Given the description of an element on the screen output the (x, y) to click on. 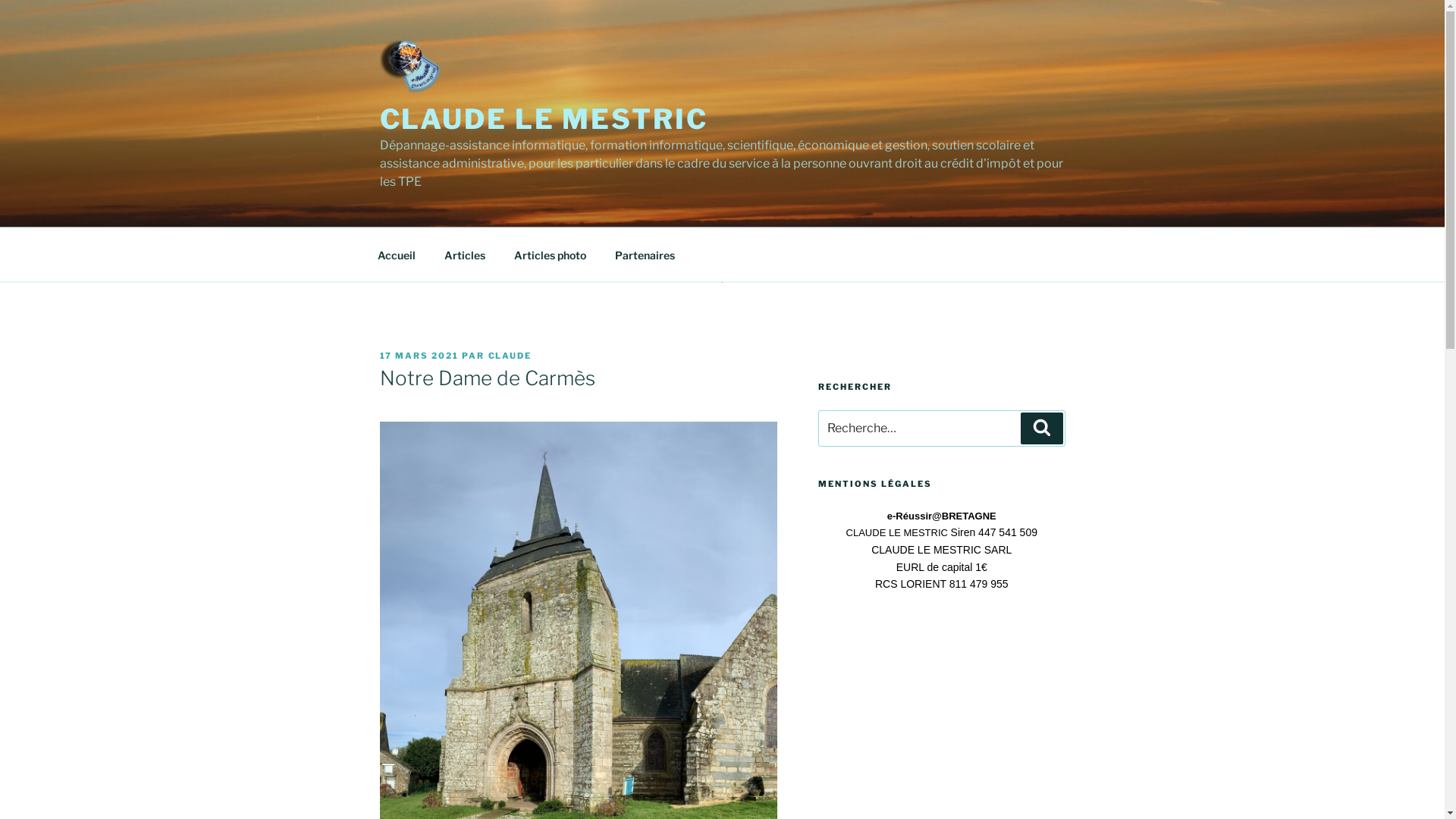
CLAUDE LE MESTRIC Element type: text (543, 118)
Partenaires Element type: text (645, 254)
Articles Element type: text (464, 254)
17 MARS 2021 Element type: text (418, 355)
Articles photo Element type: text (549, 254)
CLAUDE Element type: text (510, 355)
Recherche Element type: text (1041, 428)
Accueil Element type: text (396, 254)
